Given the description of an element on the screen output the (x, y) to click on. 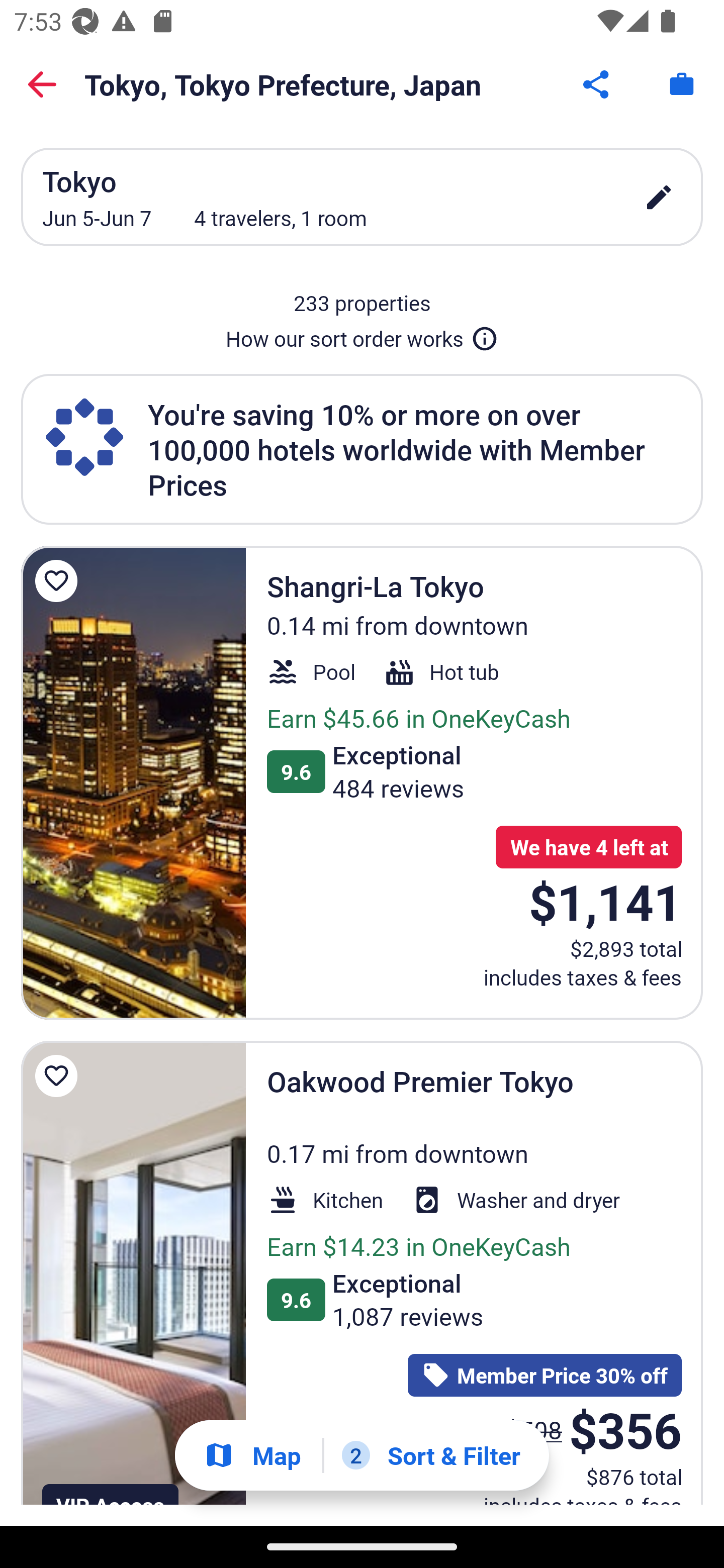
Back (42, 84)
Share Button (597, 84)
Trips. Button (681, 84)
Tokyo Jun 5-Jun 7 4 travelers, 1 room edit (361, 196)
How our sort order works (361, 334)
Save Shangri-La Tokyo to a trip (59, 580)
Shangri-La Tokyo (133, 782)
Save Oakwood Premier Tokyo to a trip (59, 1075)
Oakwood Premier Tokyo (133, 1273)
2 Sort & Filter 2 Filters applied. Filters Button (430, 1455)
Show map Map Show map Button (252, 1455)
